Given the description of an element on the screen output the (x, y) to click on. 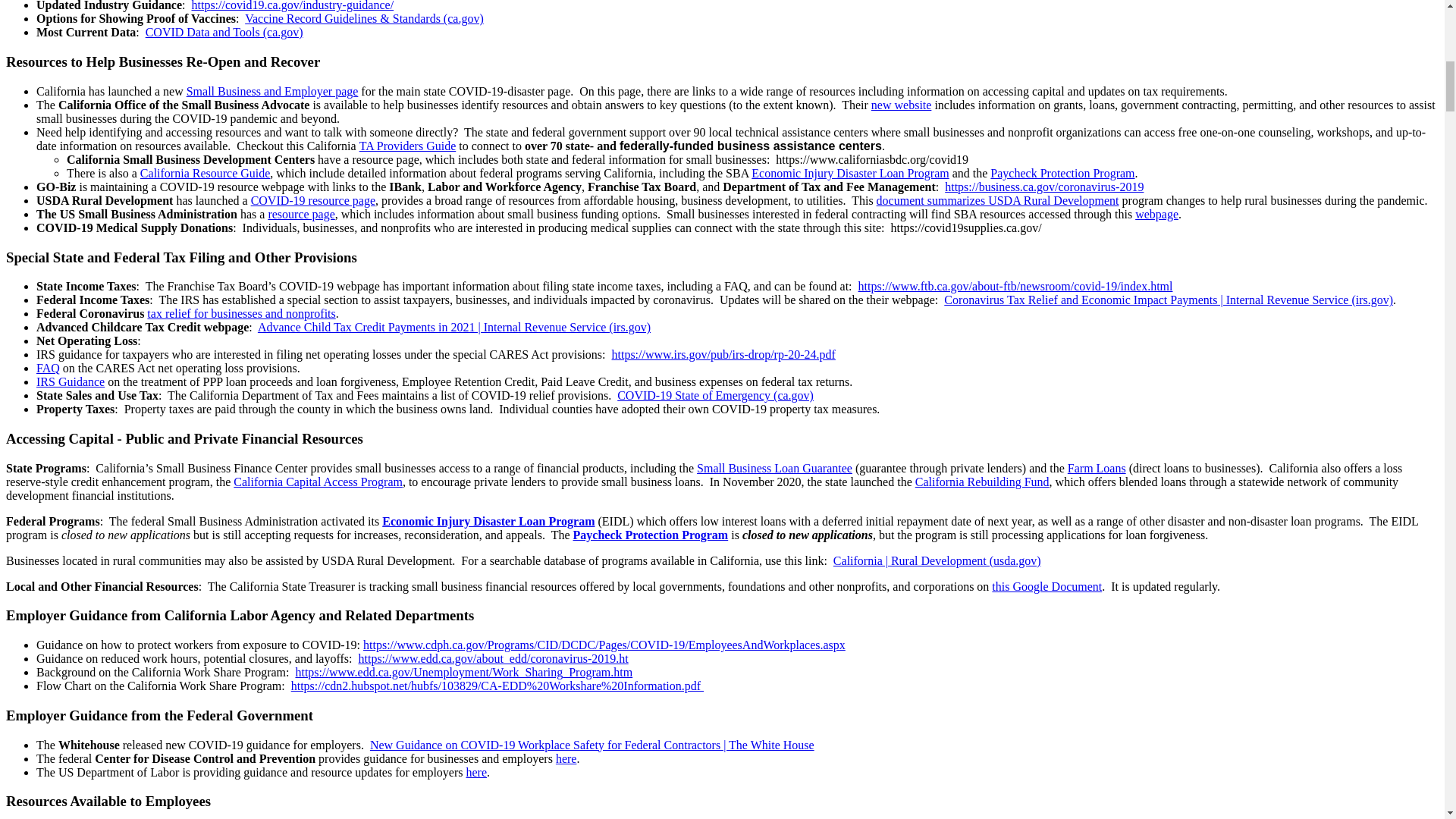
Small Business and Employer page (272, 91)
